Given the description of an element on the screen output the (x, y) to click on. 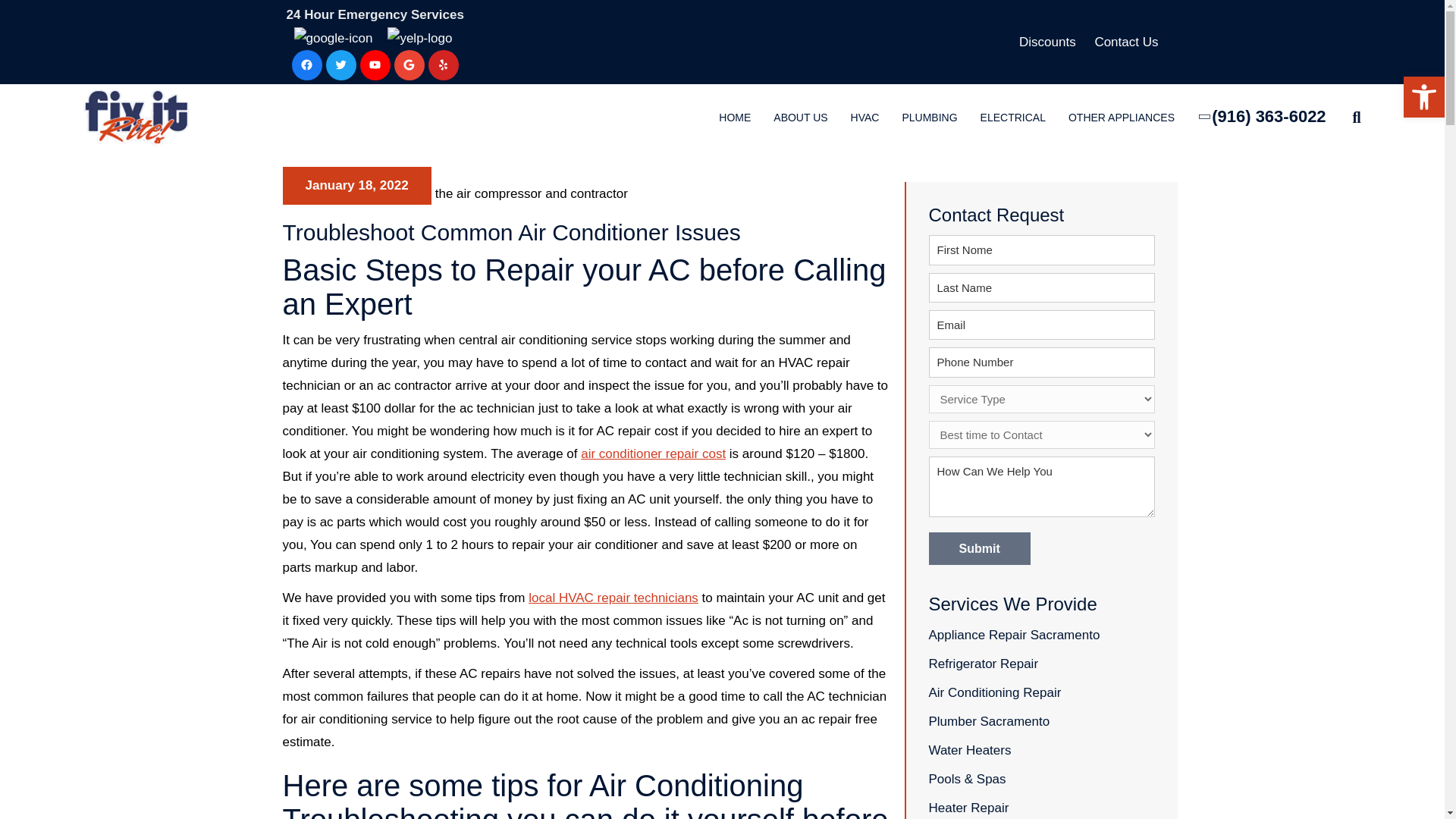
PLUMBING (928, 118)
Facebook (306, 64)
Contact Us (1126, 42)
Submit (978, 548)
Yelp (443, 64)
Accessibility Tools (1423, 96)
Discounts (1047, 42)
ABOUT US (799, 118)
yelp-logo (419, 38)
Google (409, 64)
google-icon (333, 38)
YouTube (374, 64)
Twitter (341, 64)
